Given the description of an element on the screen output the (x, y) to click on. 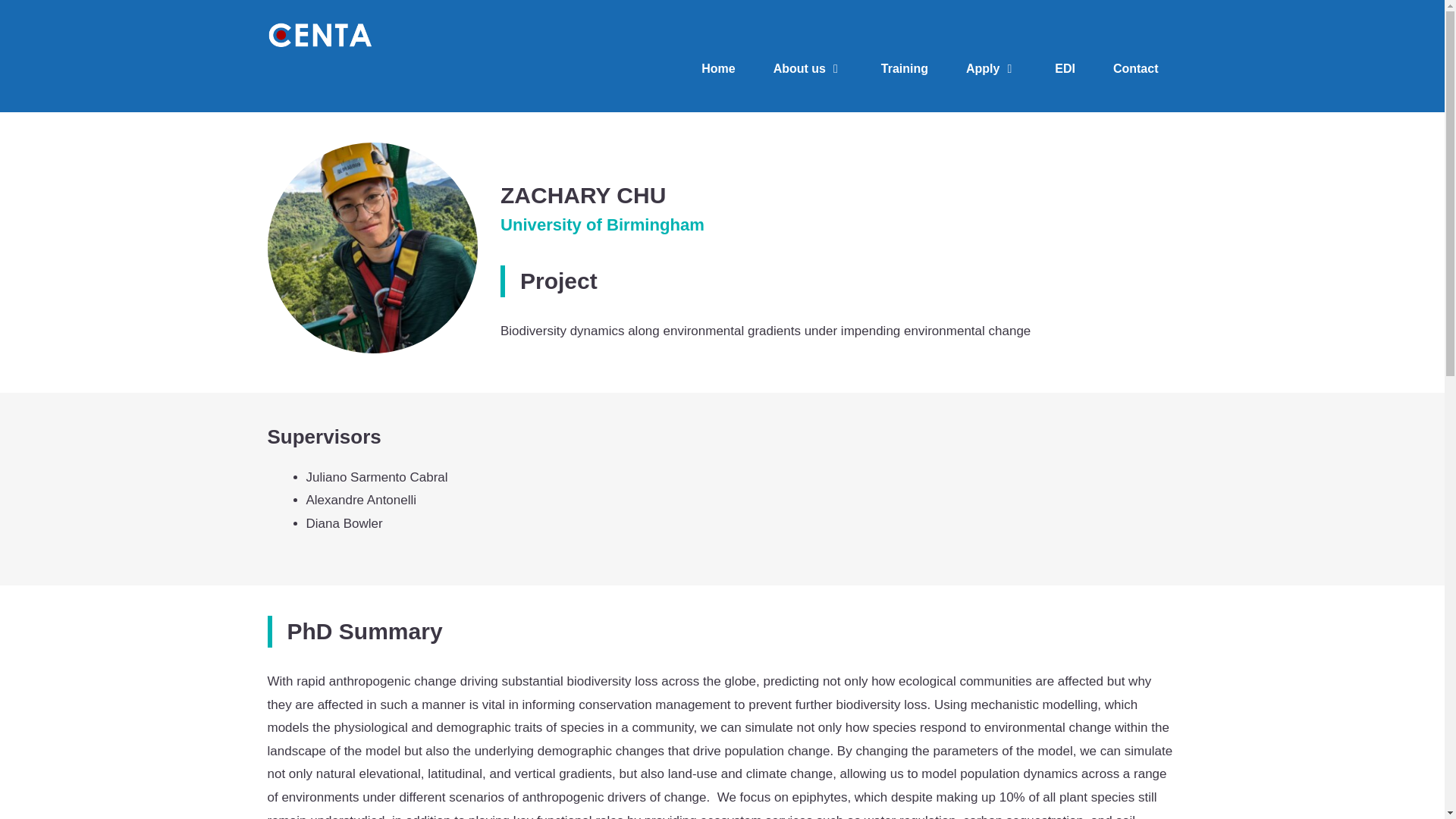
Training (904, 68)
Contact (1135, 68)
Home (718, 68)
Apply (991, 68)
About us (807, 68)
EDI (1064, 68)
